Given the description of an element on the screen output the (x, y) to click on. 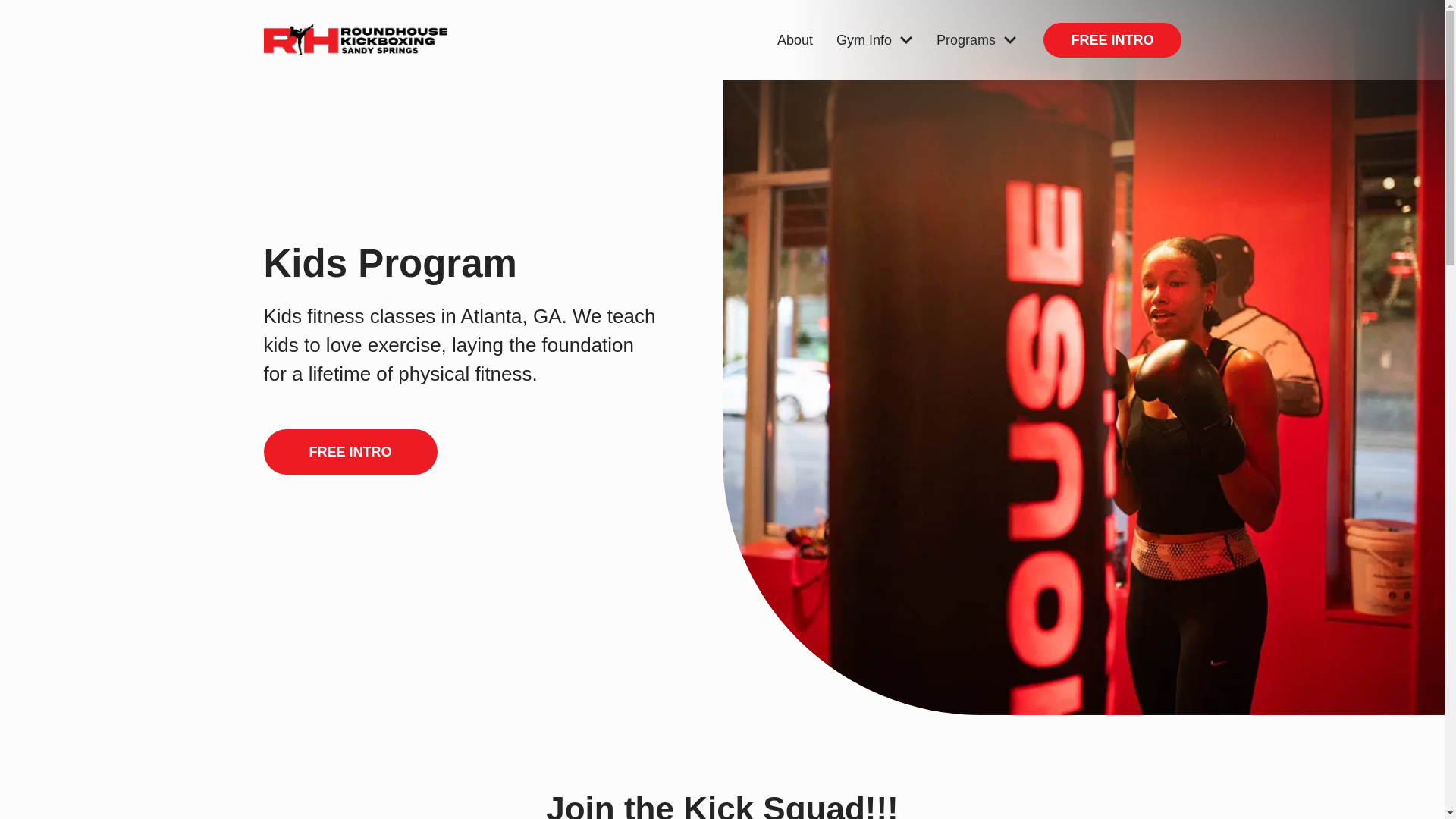
Programs (976, 39)
FREE INTRO (1111, 39)
Gym Info (874, 39)
About (795, 39)
